Given the description of an element on the screen output the (x, y) to click on. 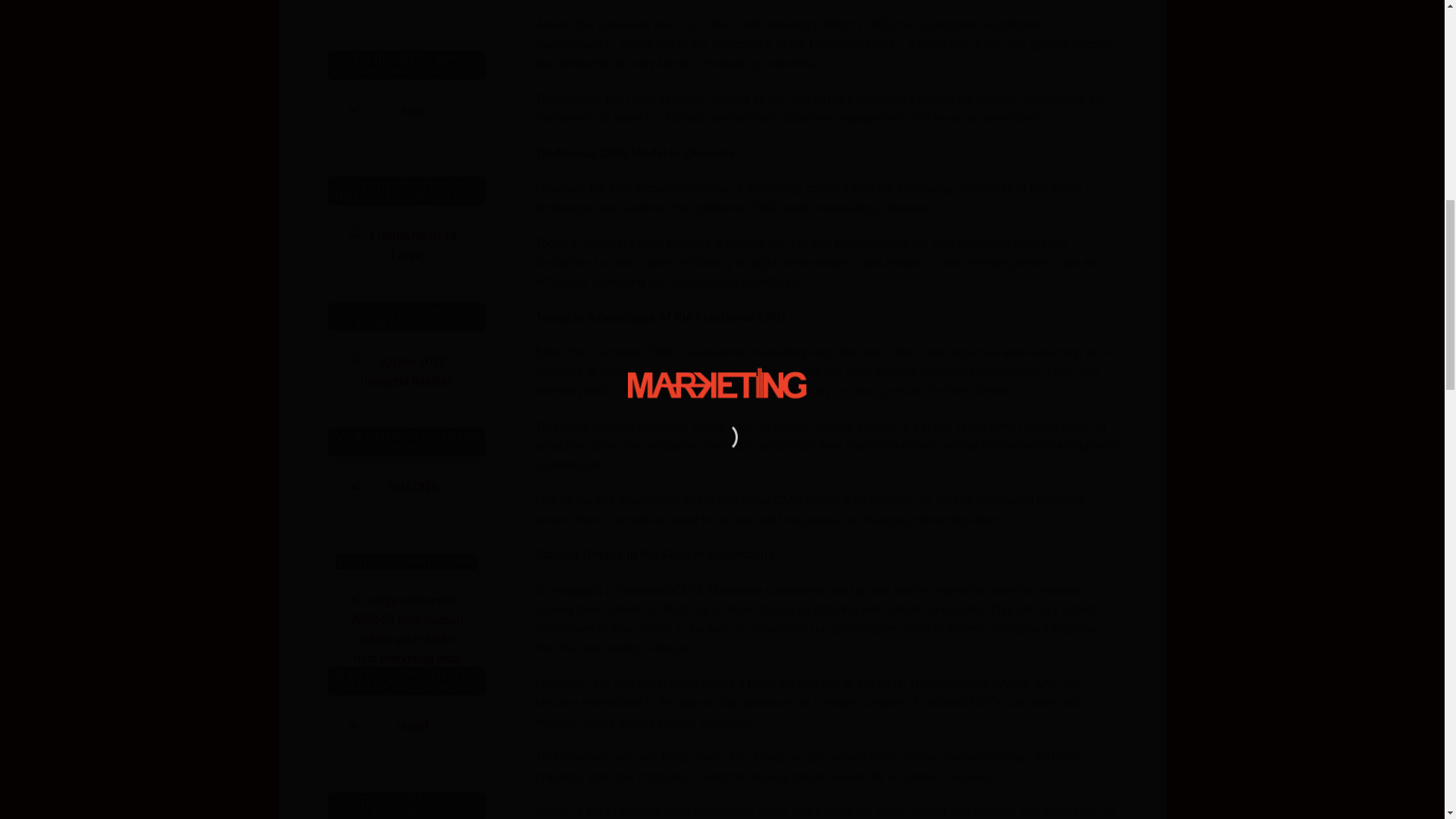
The Rise of Muslim Consumerism (406, 767)
APPIES Malaysia 2022 is now ready! (406, 409)
The Rise of Smart Machines (406, 534)
Judging criteria for the Malaysian CMO Awards 2022 (406, 157)
